Given the description of an element on the screen output the (x, y) to click on. 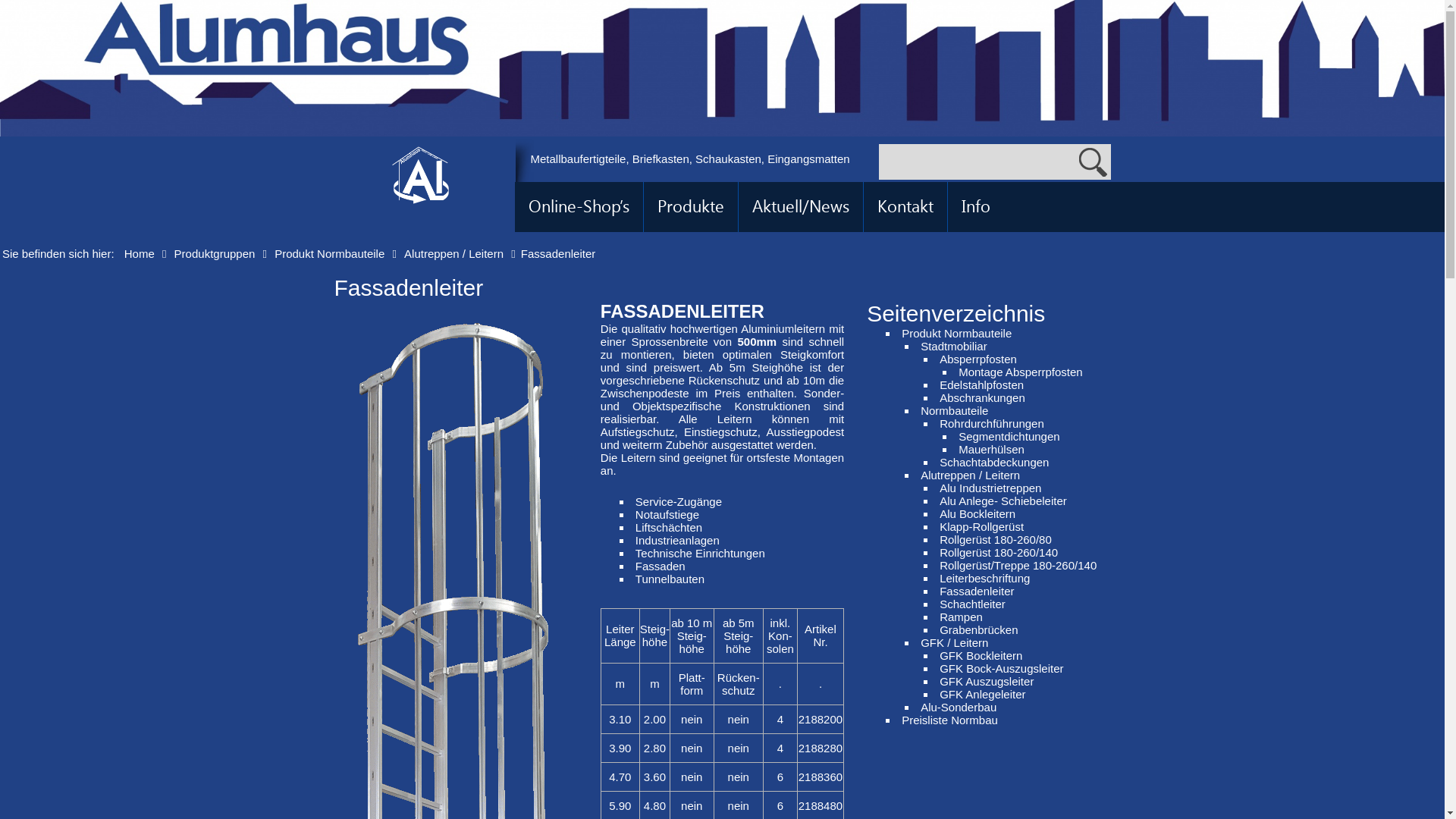
Alutreppen / Leitern Element type: text (453, 253)
Produkte Element type: text (690, 207)
Segmentdichtungen Element type: text (1008, 435)
Fassadenleiter Element type: text (976, 590)
Normbauteile Element type: text (954, 410)
GFK Auszugsleiter Element type: text (986, 680)
Alutreppen / Leitern Element type: text (969, 474)
Abschrankungen Element type: text (982, 397)
Kontakt Element type: text (904, 207)
Info Element type: text (975, 207)
Alu Anlege- Schiebeleiter Element type: text (1002, 500)
Produktgruppen Element type: text (214, 253)
Leiterbeschriftung Element type: text (984, 577)
Rampen Element type: text (960, 616)
Preisliste Normbau Element type: text (949, 719)
Fassadenleiter Element type: text (408, 291)
Produkt Normbauteile Element type: text (956, 332)
Absperrpfosten Element type: text (977, 358)
Stadtmobiliar Element type: text (953, 345)
GFK Bock-Auszugsleiter Element type: text (1001, 668)
Aktuell/News Element type: text (800, 207)
Montage Absperrpfosten Element type: text (1020, 371)
Home Element type: text (139, 253)
GFK Anlegeleiter Element type: text (982, 693)
Schachtleiter Element type: text (972, 603)
Alu Industrietreppen Element type: text (990, 487)
GFK / Leitern Element type: text (954, 642)
Produkt Normbauteile Element type: text (329, 253)
Alu Bockleitern Element type: text (977, 513)
Alu-Sonderbau Element type: text (958, 706)
GFK Bockleitern Element type: text (980, 655)
Schachtabdeckungen Element type: text (993, 461)
Edelstahlpfosten Element type: text (981, 384)
